Given the description of an element on the screen output the (x, y) to click on. 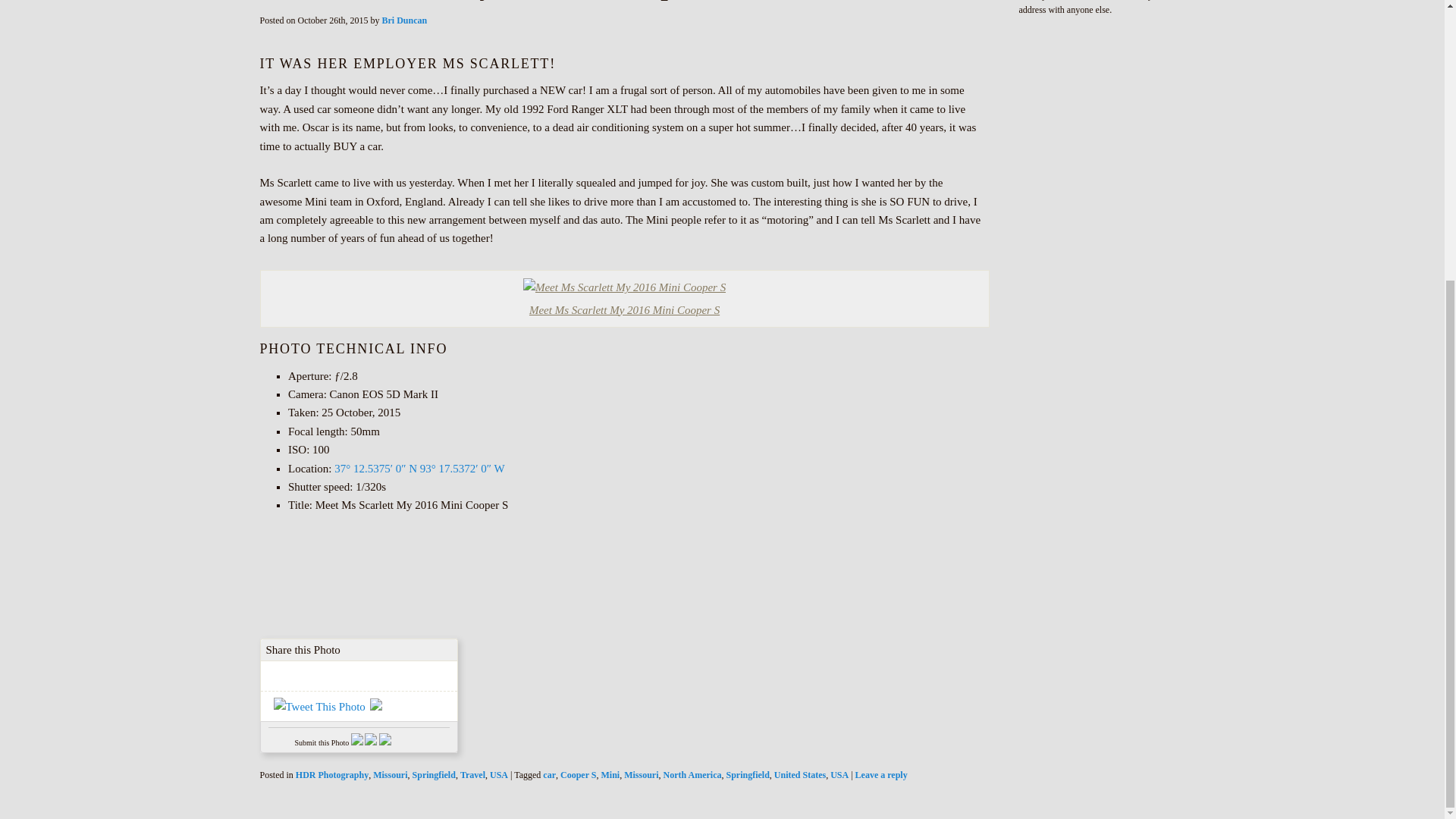
Bri Duncan (404, 20)
HDR Photography (331, 774)
Missouri (389, 774)
Cooper S (577, 774)
car (549, 774)
Submit to Digg (371, 742)
Mini (609, 774)
Travel (472, 774)
Springfield (433, 774)
